Given the description of an element on the screen output the (x, y) to click on. 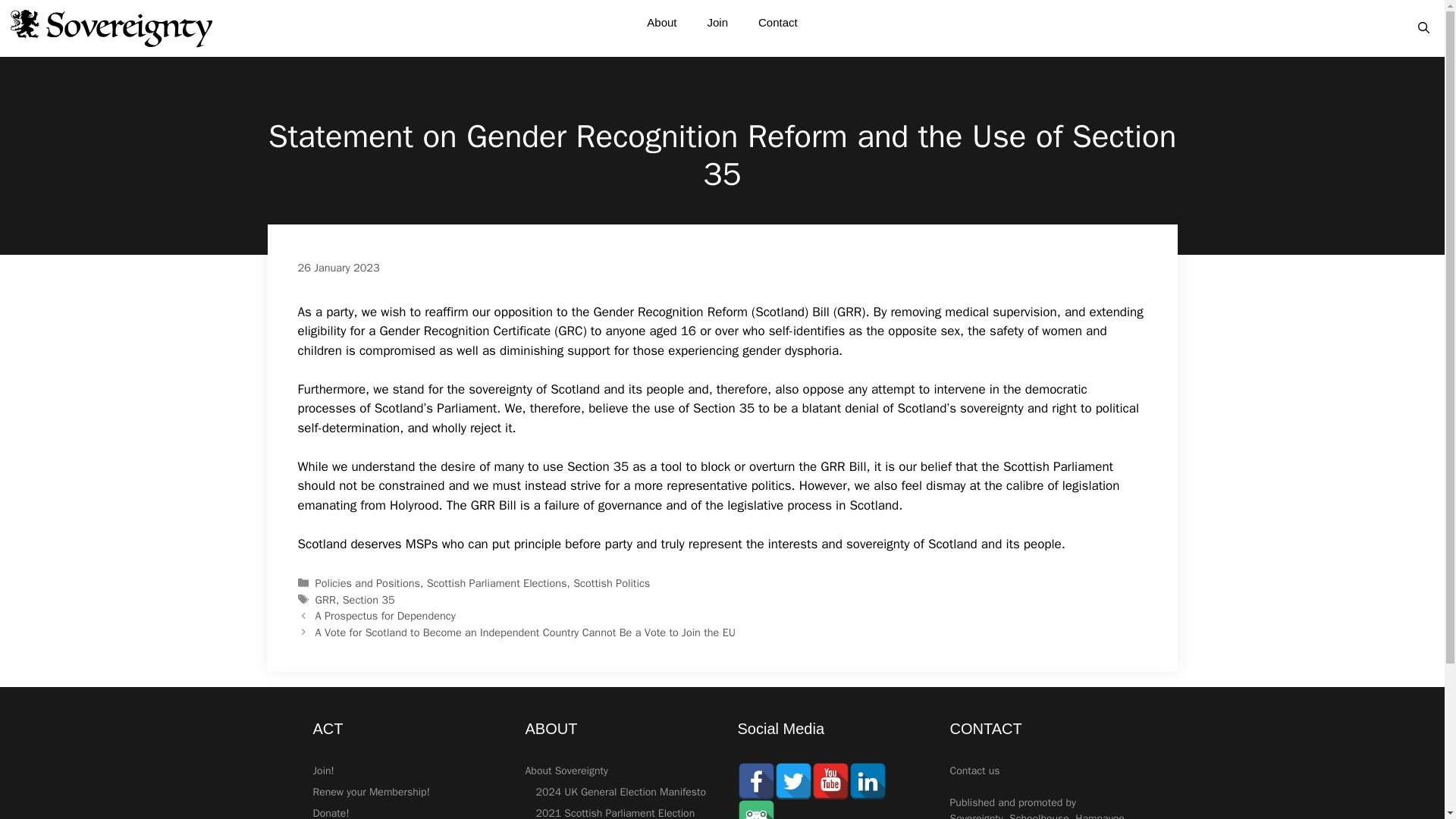
2021 Scottish Parliament Election Manifesto (614, 812)
Previous (385, 615)
2024 UK General Election Manifesto (620, 791)
Sovereignty (111, 28)
Renew your Membership! (371, 791)
A Prospectus for Dependency (385, 615)
Contact (777, 22)
About Sovereignty (565, 770)
Scottish Parliament Elections (496, 582)
Next (525, 632)
Donate! (331, 812)
Join! (323, 770)
Section 35 (368, 599)
GRR (325, 599)
